Given the description of an element on the screen output the (x, y) to click on. 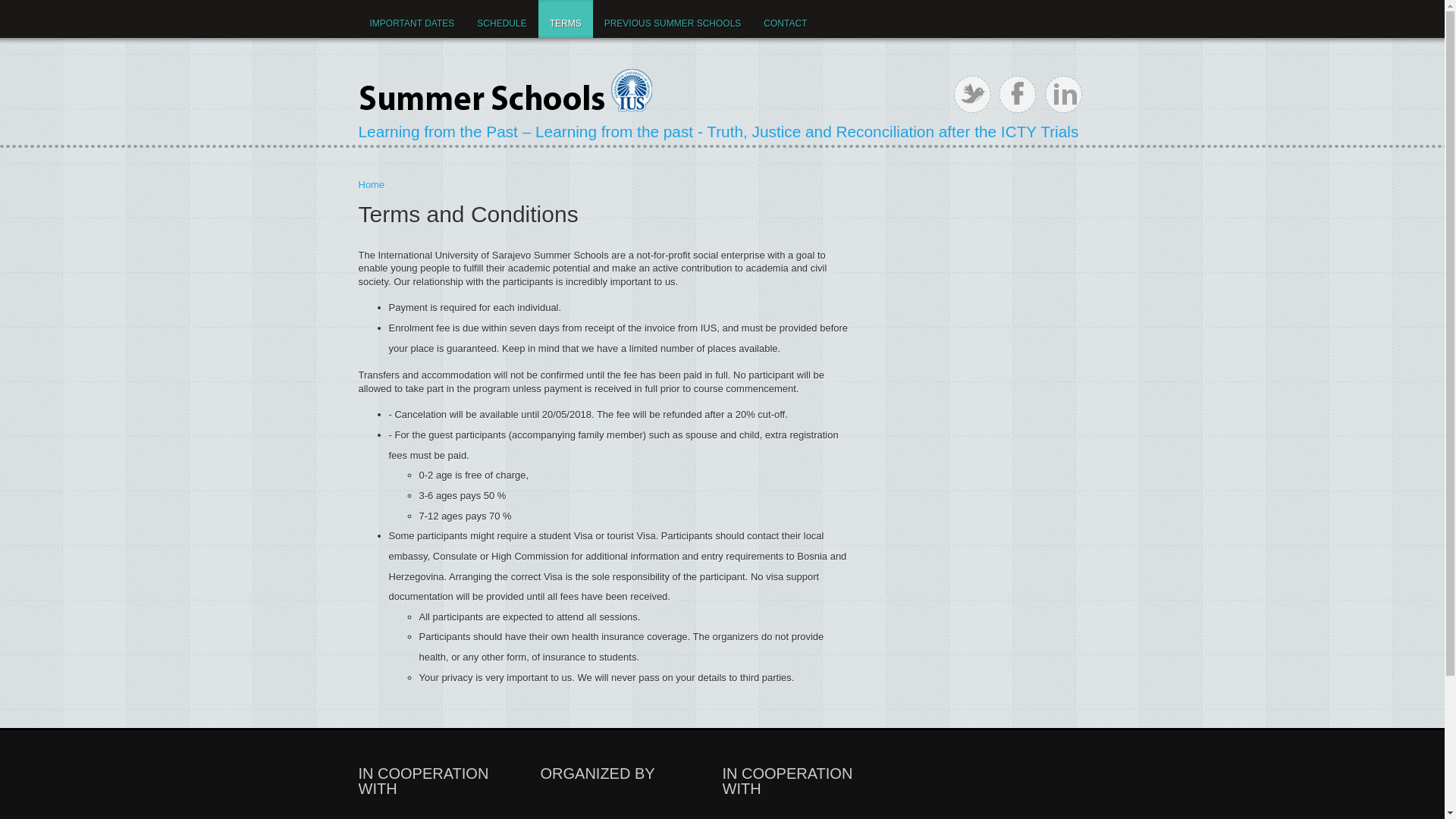
CONTACT Element type: text (785, 18)
Home Element type: hover (505, 88)
Join Us on Facebook! Element type: hover (1017, 93)
Home Element type: text (370, 184)
IMPORTANT DATES Element type: text (411, 18)
SCHEDULE Element type: text (501, 18)
Find us on Linked in Element type: hover (1063, 93)
Follow Us on Twitter! Element type: hover (972, 93)
Skip to main content Element type: text (44, 0)
PREVIOUS SUMMER SCHOOLS Element type: text (673, 18)
TERMS Element type: text (565, 18)
